Given the description of an element on the screen output the (x, y) to click on. 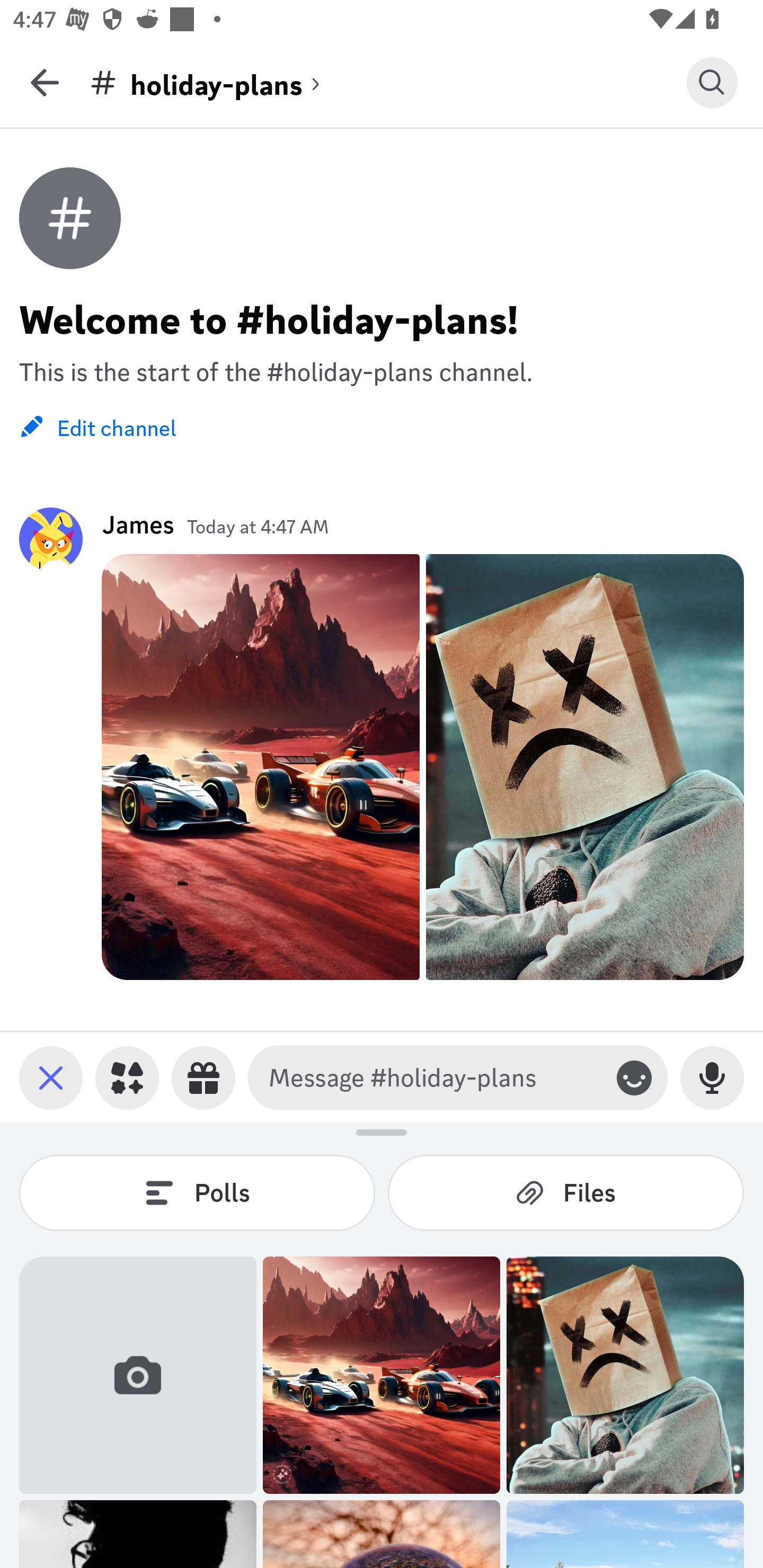
Back (44, 82)
Search (711, 82)
Edit channel (97, 426)
James (137, 524)
Message #holiday-plans Toggle emoji keyboard (457, 1077)
Toggle media keyboard (50, 1077)
Apps (126, 1077)
Send a gift (203, 1077)
Record Voice Message (711, 1077)
Toggle emoji keyboard (634, 1077)
Polls (197, 1192)
Files (565, 1192)
Camera (137, 1374)
Photo (381, 1374)
Photo (624, 1374)
